Given the description of an element on the screen output the (x, y) to click on. 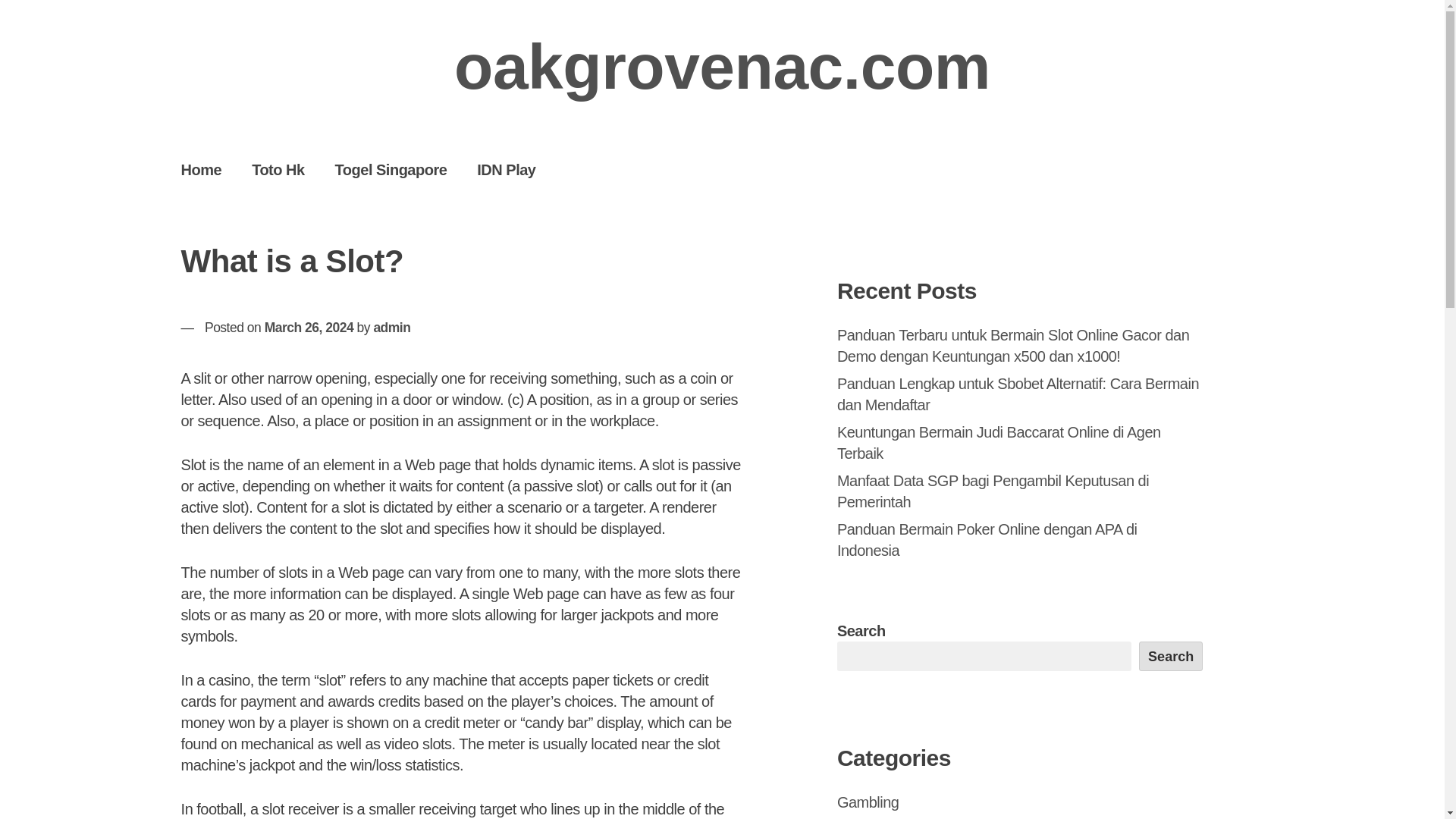
admin (391, 327)
Togel Singapore (391, 169)
Keuntungan Bermain Judi Baccarat Online di Agen Terbaik (998, 442)
Search (1171, 655)
Home (201, 169)
Toto Hk (276, 169)
Gambling (868, 801)
Panduan Bermain Poker Online dengan APA di Indonesia (987, 539)
Manfaat Data SGP bagi Pengambil Keputusan di Pemerintah (992, 491)
March 26, 2024 (308, 327)
IDN Play (505, 169)
oakgrovenac.com (722, 66)
